Given the description of an element on the screen output the (x, y) to click on. 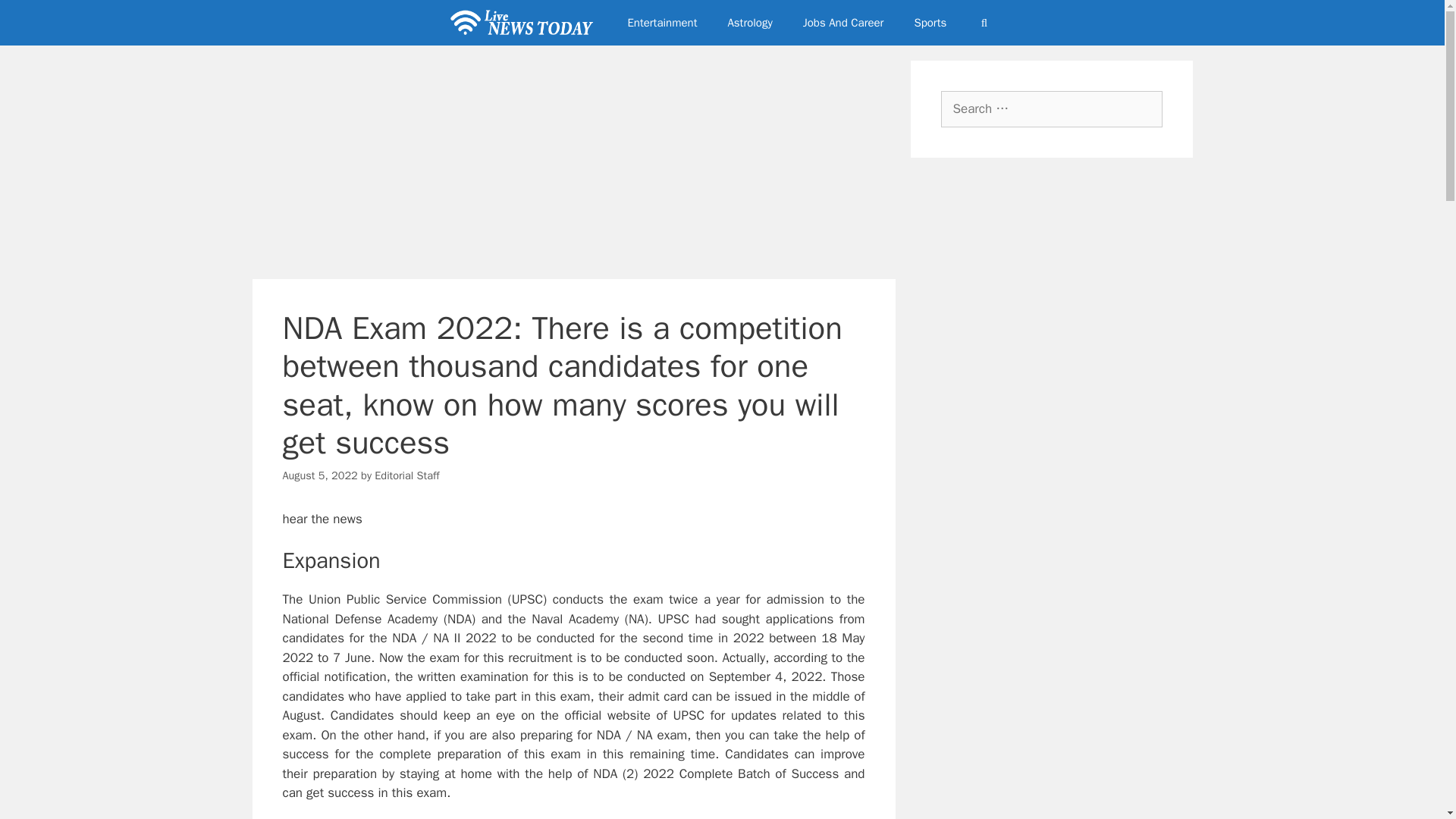
Jobs And Career (843, 22)
Astrology (749, 22)
Entertainment (661, 22)
Search for: (1050, 108)
Sports (929, 22)
View all posts by Editorial Staff (406, 475)
LIVE NEWS TODAY (520, 22)
Editorial Staff (406, 475)
LIVE NEWS TODAY (524, 22)
